Given the description of an element on the screen output the (x, y) to click on. 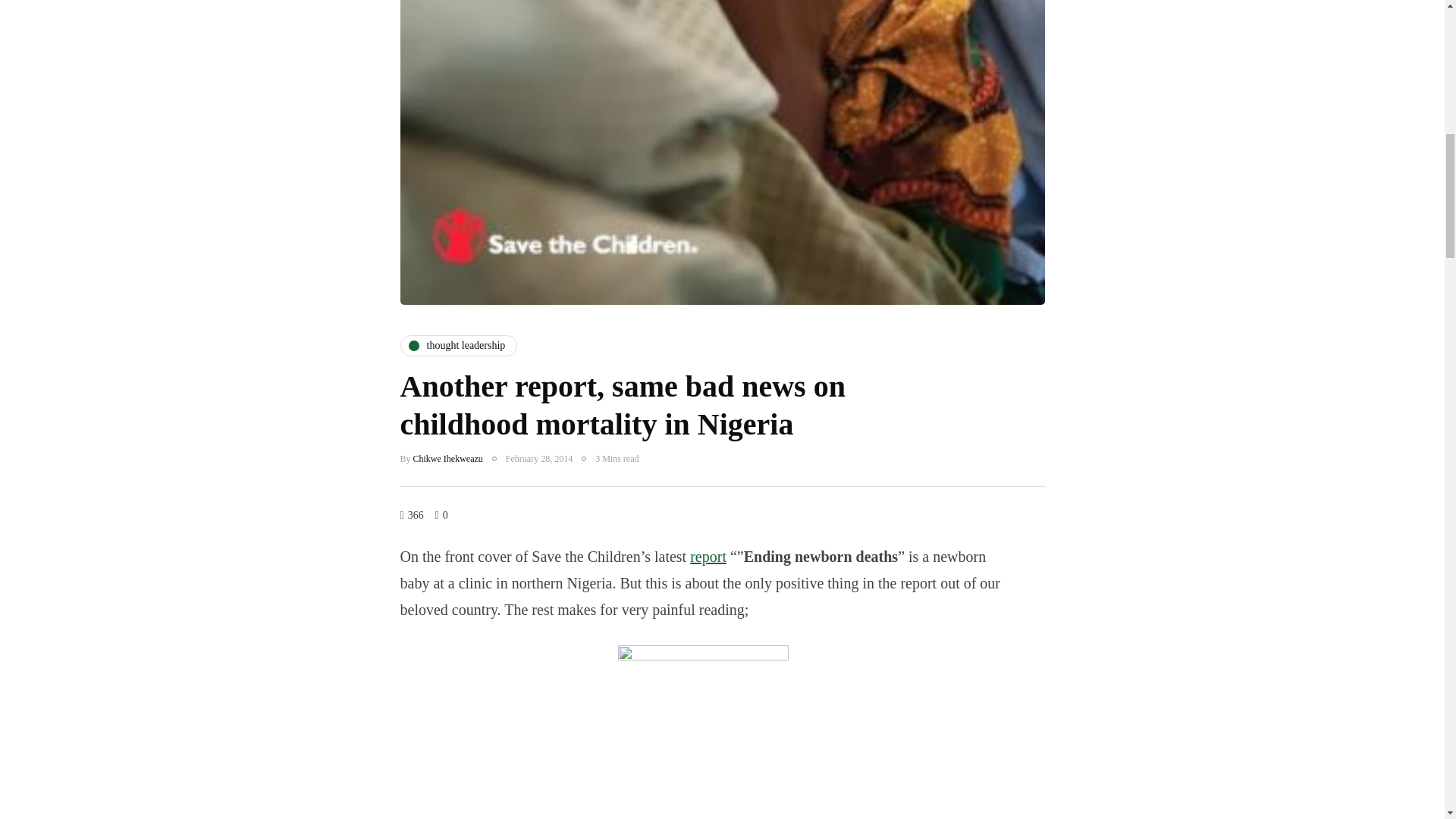
Posts by Chikwe Ihekweazu (448, 458)
thought leadership (459, 345)
Chikwe Ihekweazu (448, 458)
report (708, 556)
